Given the description of an element on the screen output the (x, y) to click on. 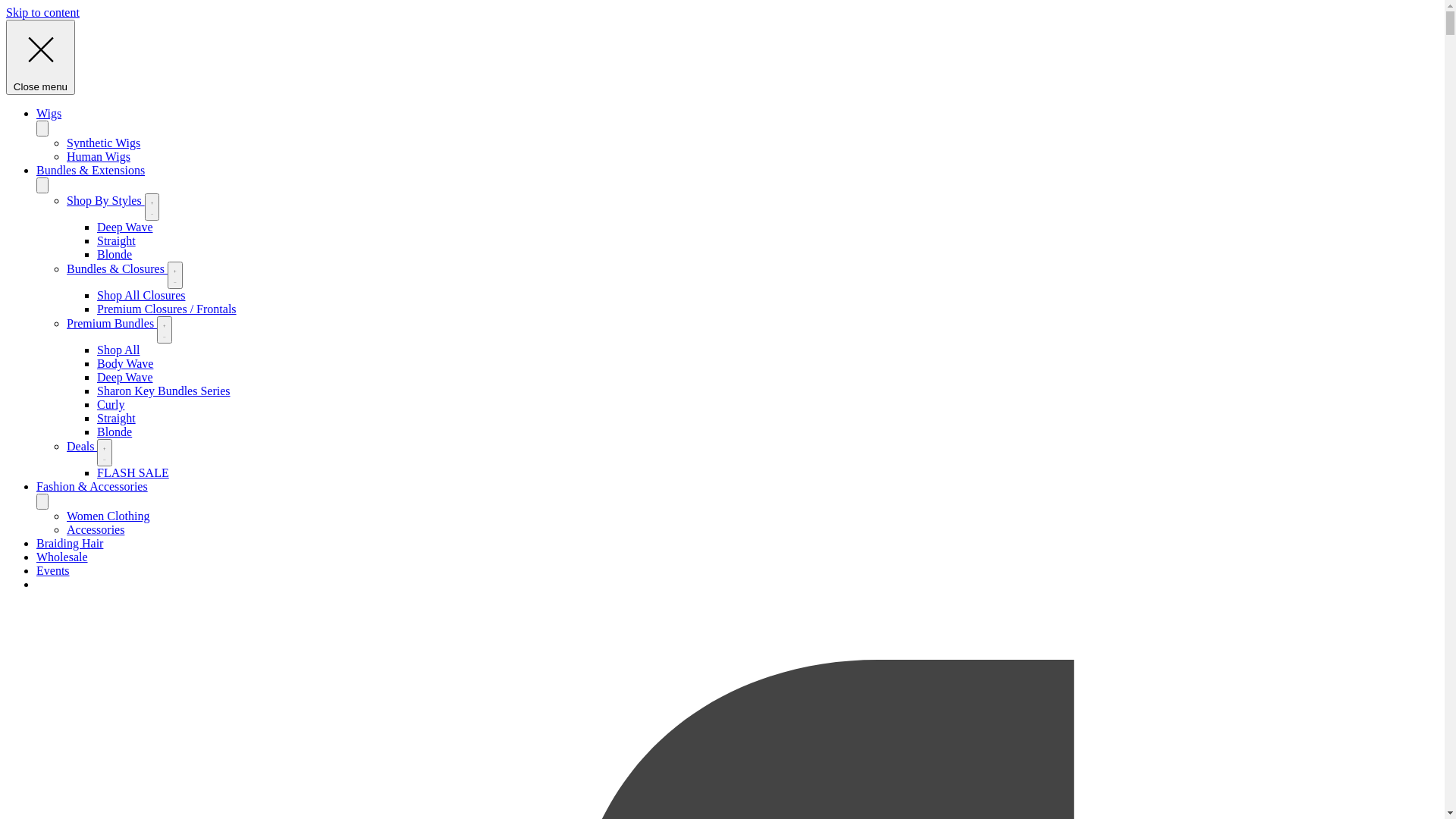
Blonde Element type: text (114, 431)
Premium Closures / Frontals Element type: text (166, 308)
Body Wave Element type: text (125, 363)
Blonde Element type: text (114, 253)
Fashion & Accessories Element type: text (91, 486)
Curly Element type: text (110, 404)
Straight Element type: text (116, 240)
Deals Element type: text (81, 445)
Deep Wave Element type: text (125, 226)
Synthetic Wigs Element type: text (103, 142)
Premium Bundles Element type: text (111, 322)
Sharon Key Bundles Series Element type: text (163, 390)
Bundles & Closures Element type: text (116, 268)
Women Clothing Element type: text (107, 515)
Bundles & Extensions Element type: text (90, 169)
Human Wigs Element type: text (98, 156)
Braiding Hair Element type: text (69, 542)
Straight Element type: text (116, 417)
Shop All Element type: text (118, 349)
Events Element type: text (52, 570)
Accessories Element type: text (95, 529)
Wholesale Element type: text (61, 556)
Shop By Styles Element type: text (105, 200)
Skip to content Element type: text (42, 12)
FLASH SALE Element type: text (133, 472)
Shop All Closures Element type: text (141, 294)
Deep Wave Element type: text (125, 376)
Wigs Element type: text (48, 112)
